Given the description of an element on the screen output the (x, y) to click on. 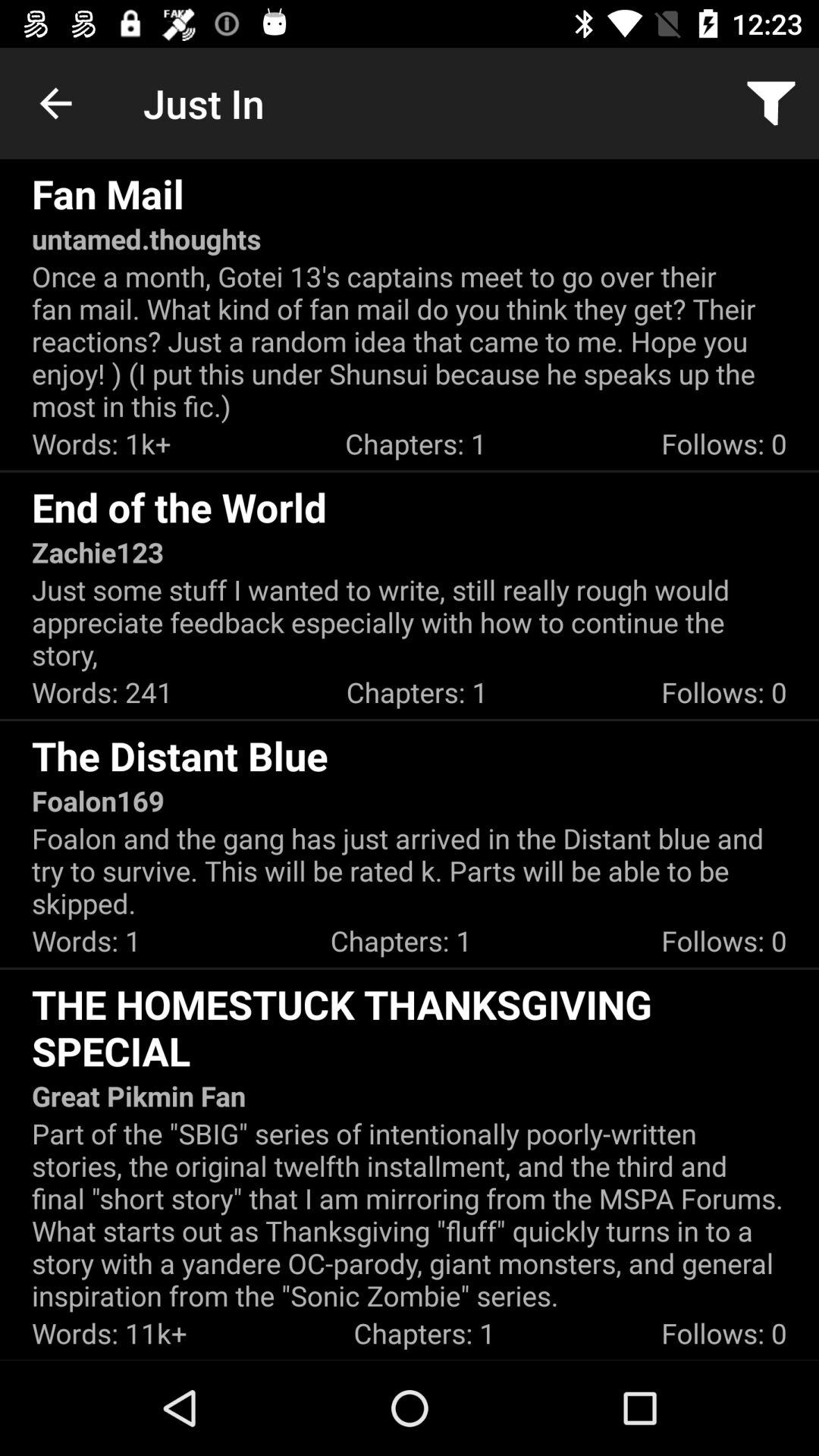
swipe until the untamed.thoughts (146, 238)
